Given the description of an element on the screen output the (x, y) to click on. 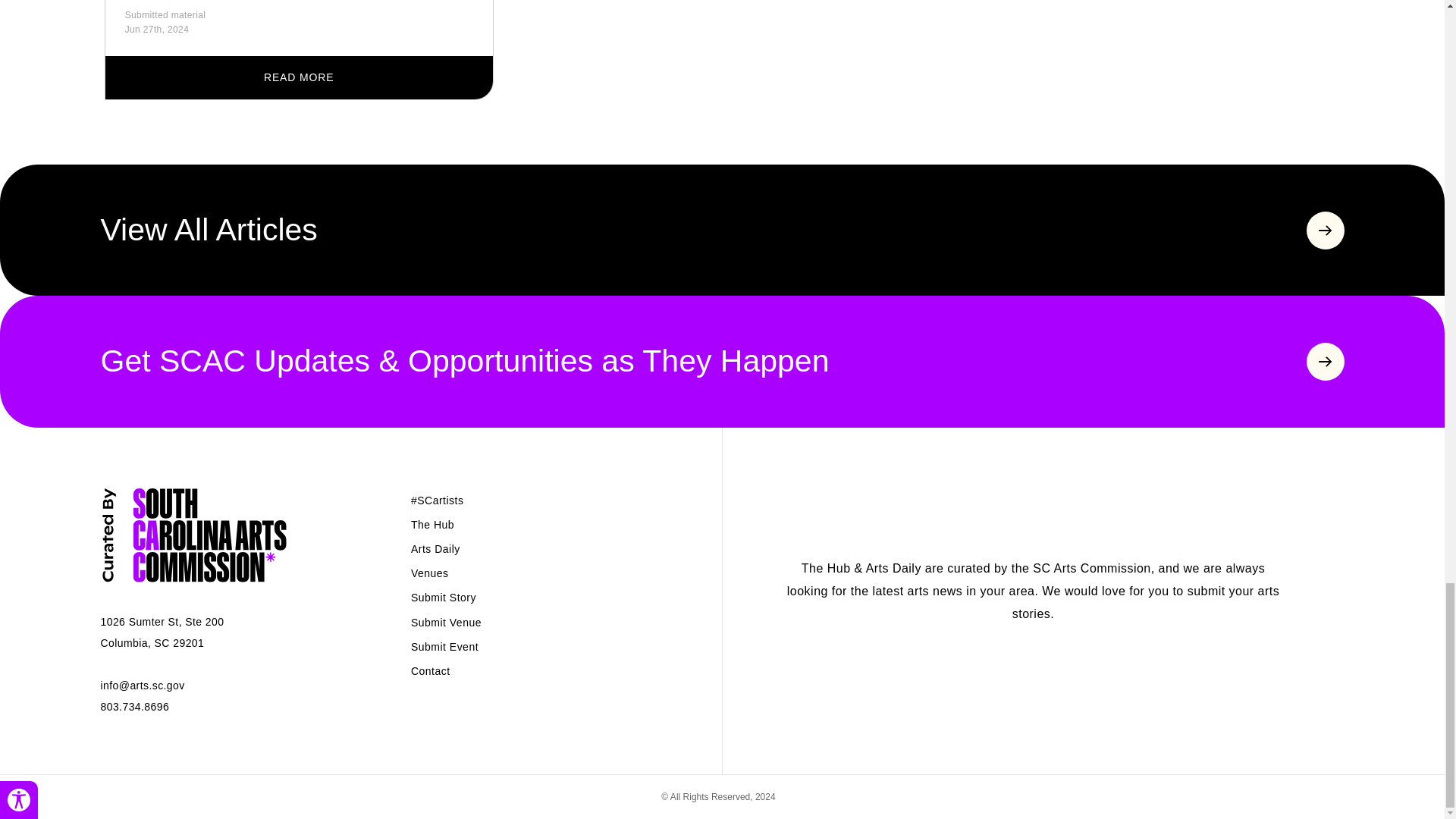
Venues (429, 573)
View All Articles (721, 229)
The Hub (432, 524)
Arts Daily (435, 548)
